Given the description of an element on the screen output the (x, y) to click on. 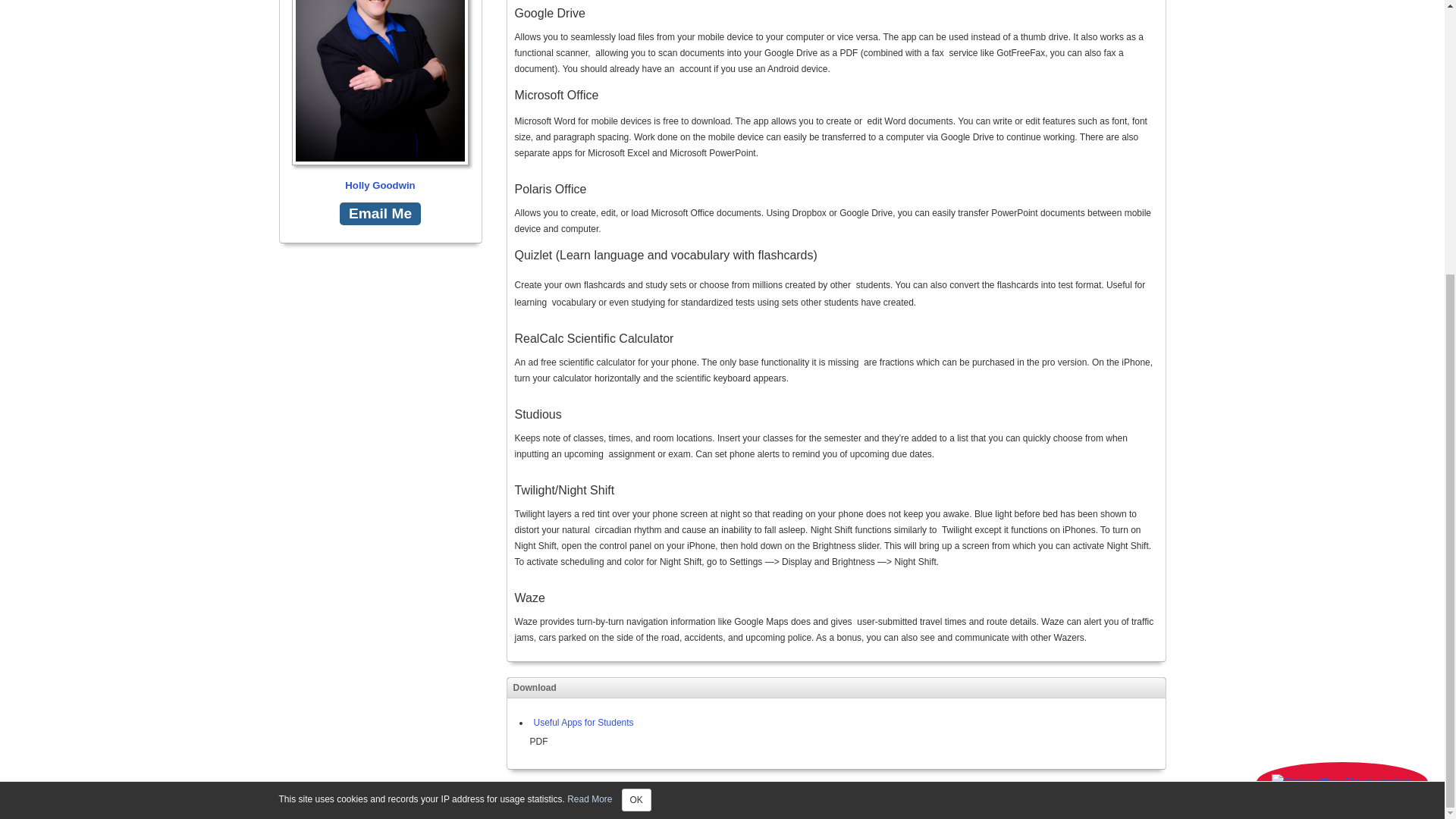
Useful Apps for Students (581, 722)
Email Me (379, 214)
OK (635, 395)
Read More (589, 394)
Holly Goodwin (379, 97)
Login to LibApps (1120, 799)
Print Page (637, 799)
